Given the description of an element on the screen output the (x, y) to click on. 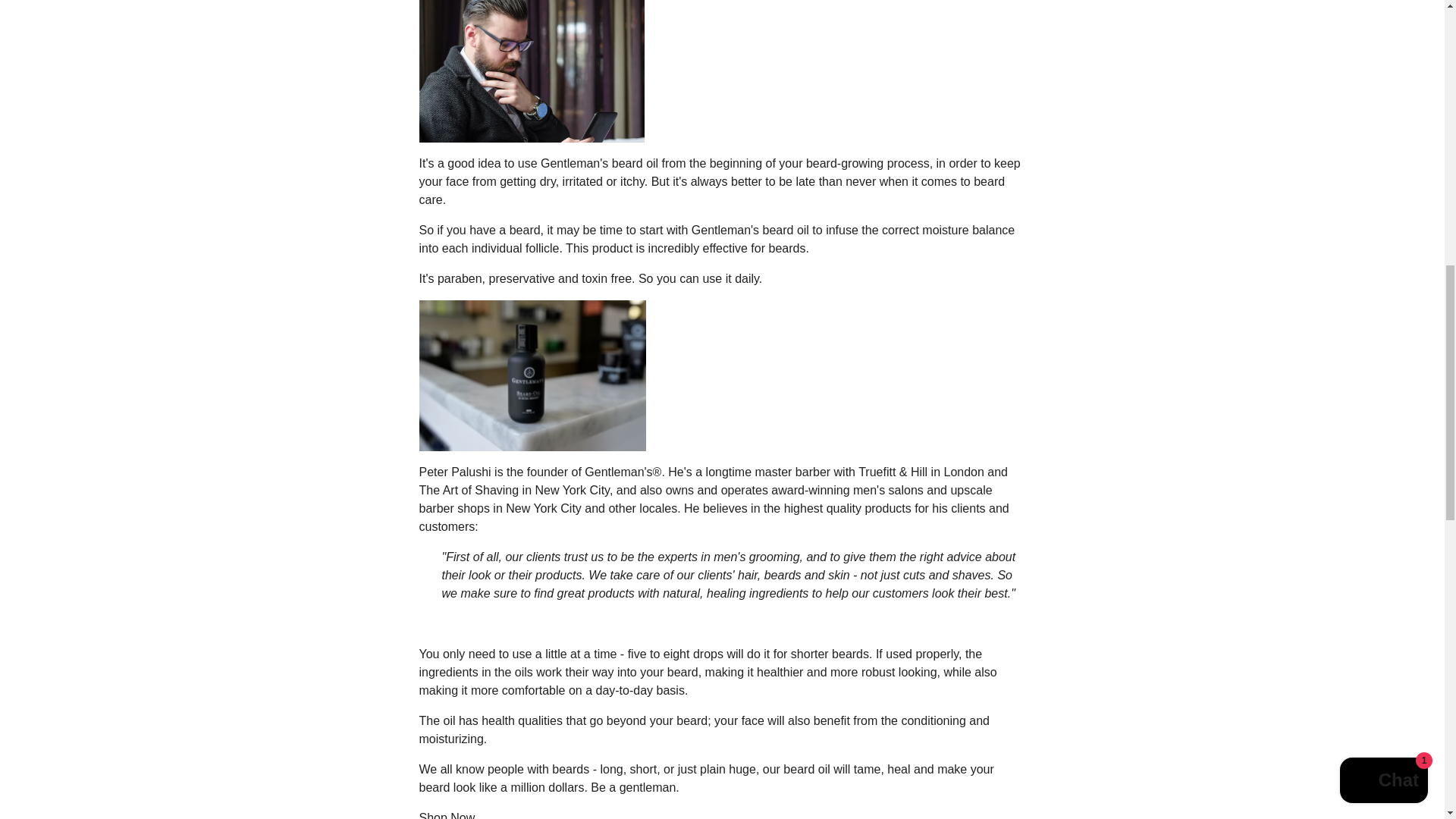
Best Beard Oil for Men with Beards (446, 815)
Shop Now (446, 815)
